Given the description of an element on the screen output the (x, y) to click on. 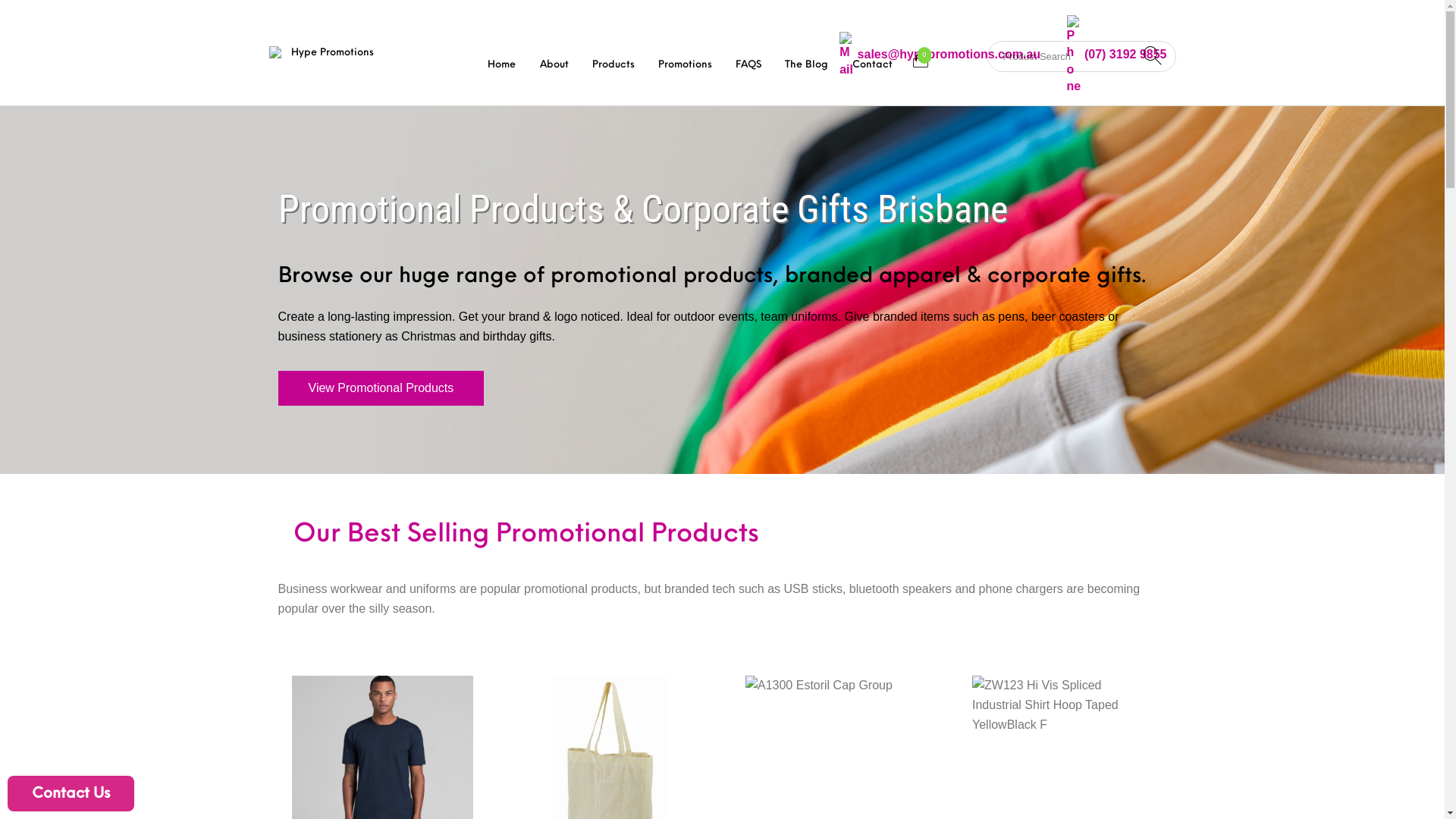
Promotions Element type: text (684, 63)
Home Element type: text (501, 63)
The Blog Element type: text (806, 63)
View Promotional Products Element type: text (380, 387)
(07) 3192 9855 Element type: text (1116, 53)
FAQS Element type: text (748, 63)
0 Element type: text (920, 57)
Hype Promotions Element type: hover (325, 52)
Contact Us Element type: text (70, 793)
About Element type: text (553, 63)
Contact Element type: text (871, 63)
Products Element type: text (613, 63)
sales@hypepromotions.com.au Element type: text (939, 53)
